Given the description of an element on the screen output the (x, y) to click on. 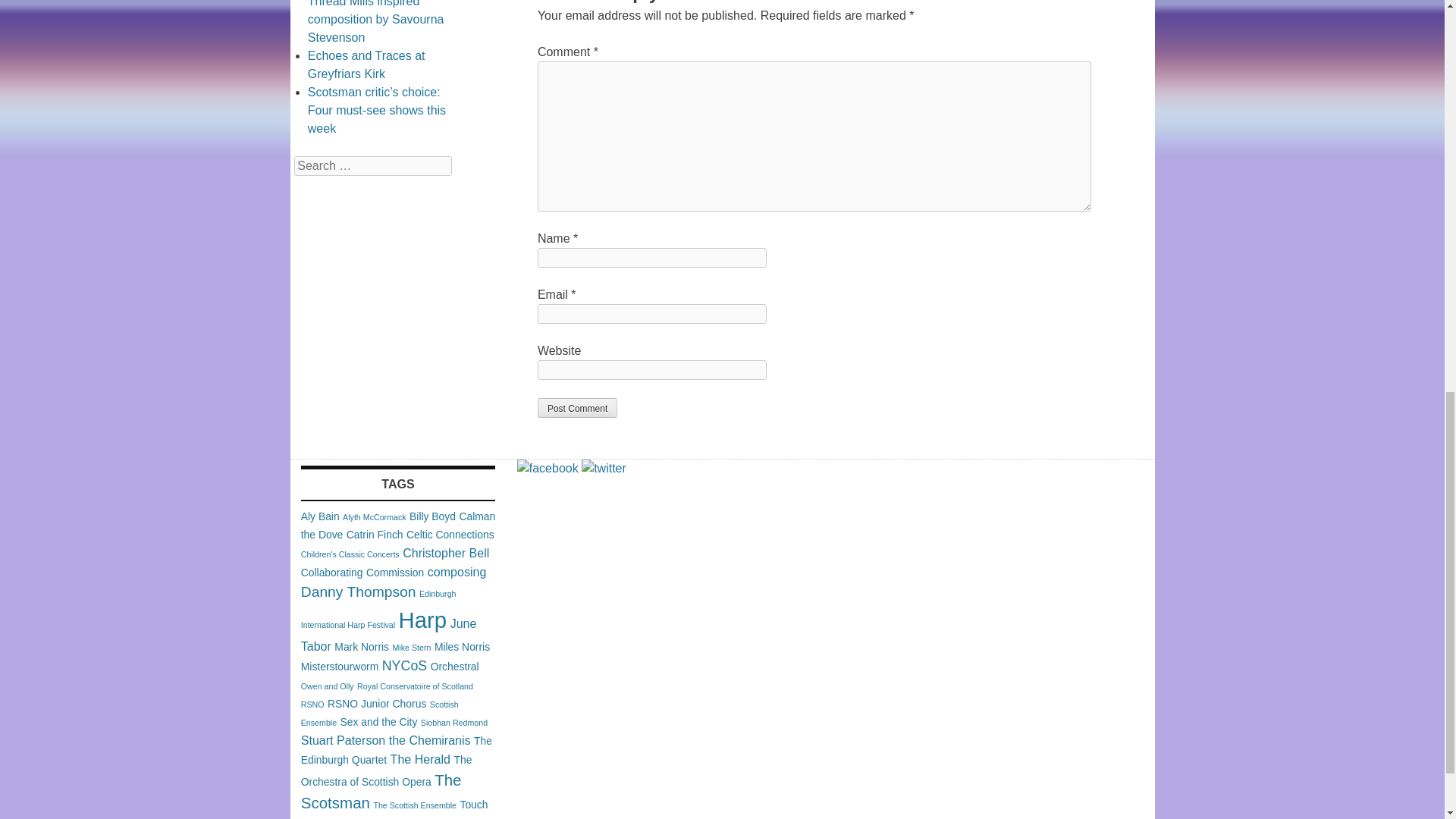
Post Comment (577, 407)
Post Comment (577, 407)
